Given the description of an element on the screen output the (x, y) to click on. 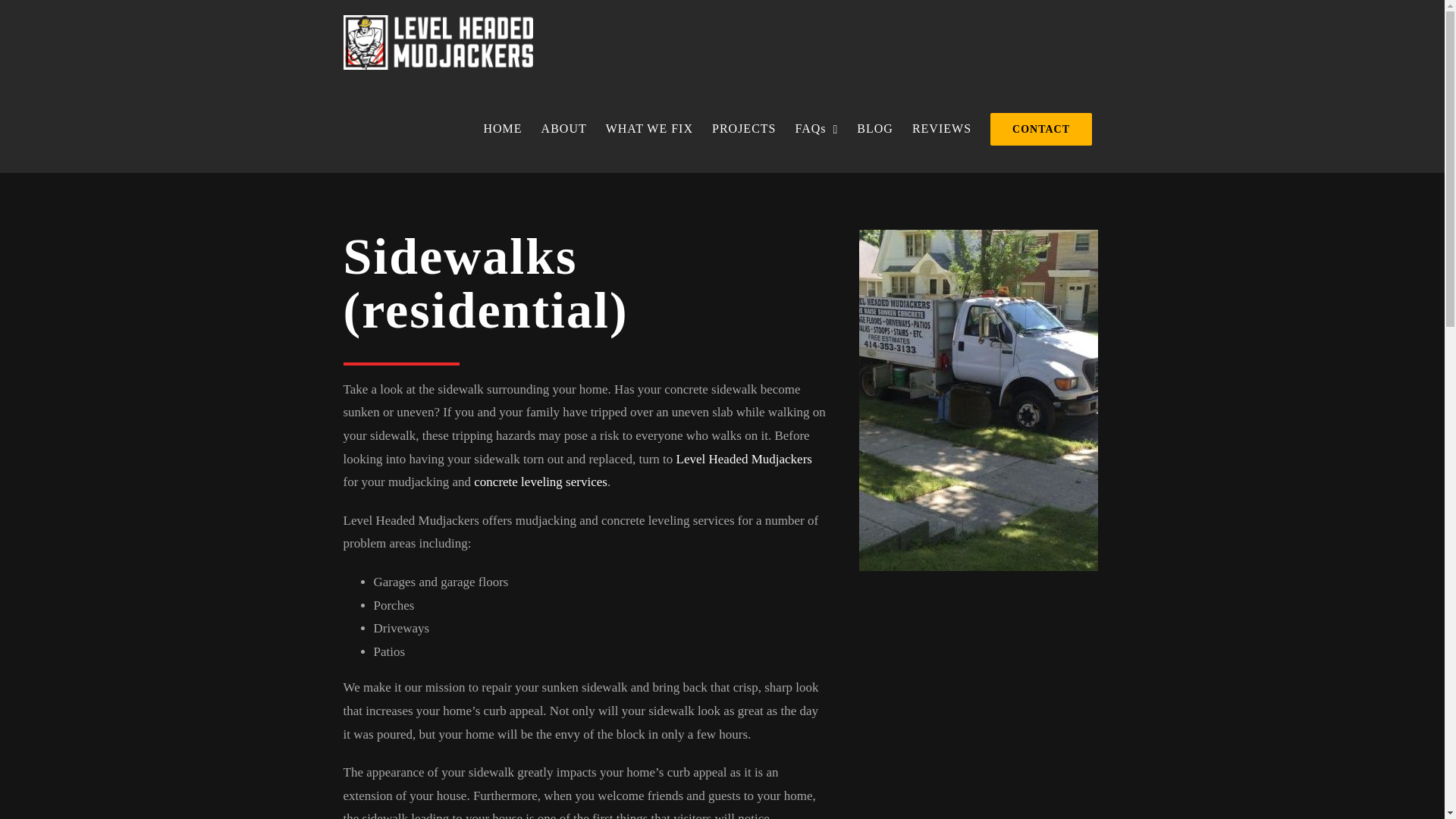
Level Headed Mudjackers (744, 459)
concrete leveling services (540, 481)
CONTACT (1041, 128)
PROJECTS (742, 128)
WHAT WE FIX (648, 128)
